Given the description of an element on the screen output the (x, y) to click on. 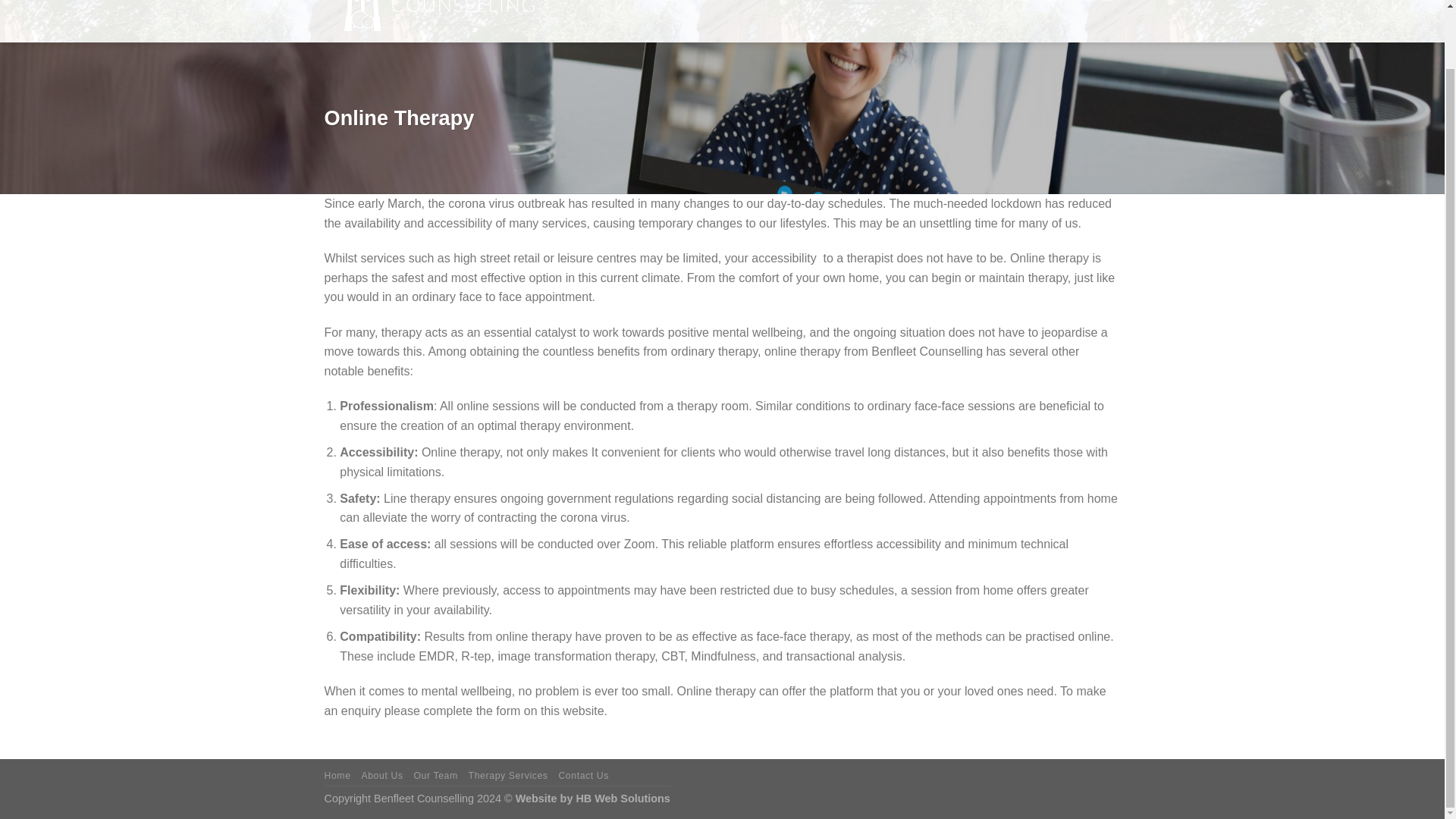
Contact Us (582, 775)
ABOUT US (721, 1)
OUR TEAM (784, 1)
CONTACT US (973, 1)
About Us (382, 775)
THERAPY SERVICES (876, 2)
HOME (669, 1)
Home (337, 775)
Therapy Services (508, 775)
Our Team (435, 775)
